Given the description of an element on the screen output the (x, y) to click on. 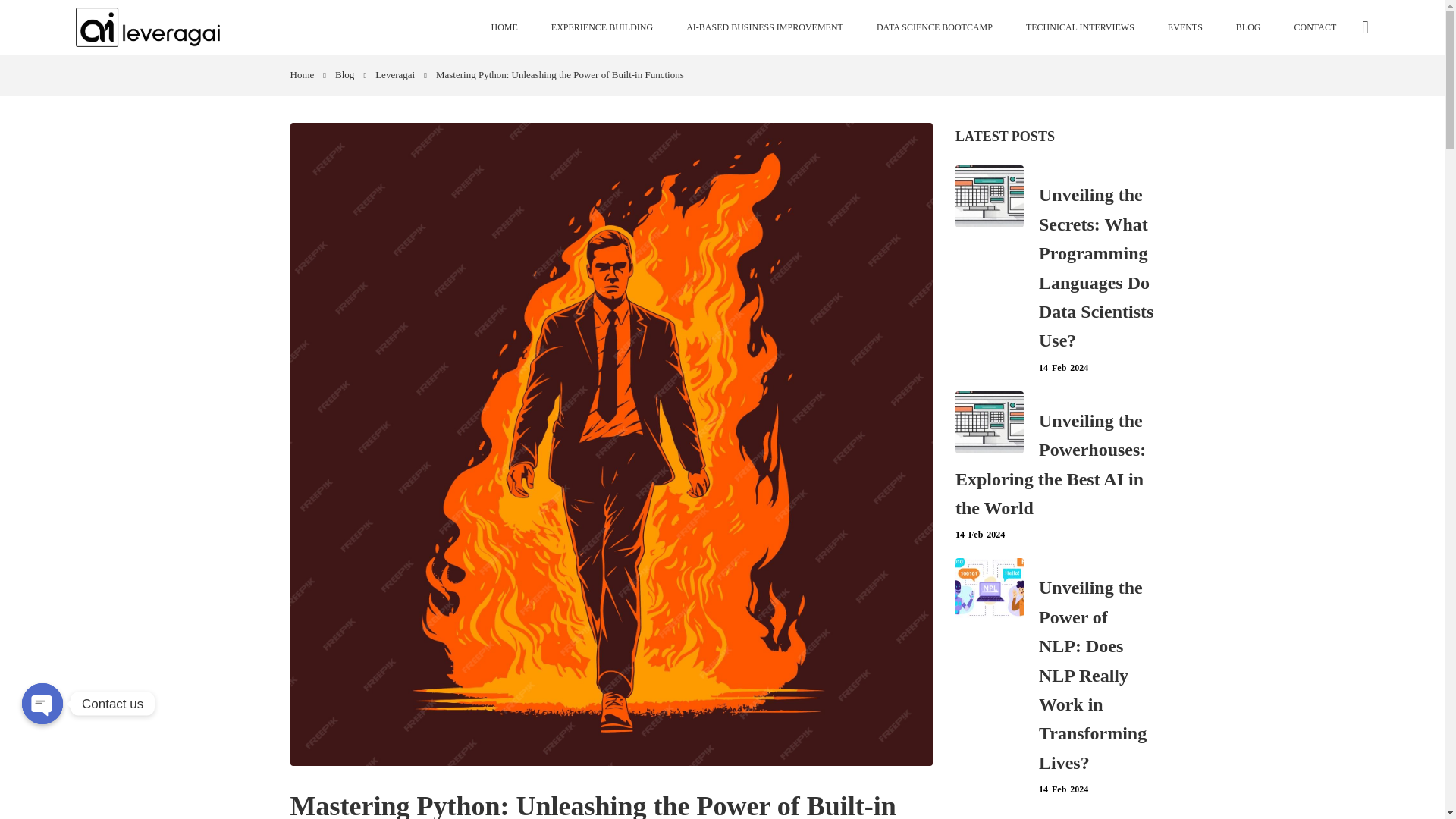
BLOG (1248, 26)
Home (307, 75)
Leveragai (400, 75)
EVENTS (1185, 26)
HOME (504, 26)
DATA SCIENCE BOOTCAMP (934, 26)
Blog (350, 75)
CONTACT (1315, 26)
EXPERIENCE BUILDING (601, 26)
TECHNICAL INTERVIEWS (1080, 26)
AI-BASED BUSINESS IMPROVEMENT (765, 26)
